Given the description of an element on the screen output the (x, y) to click on. 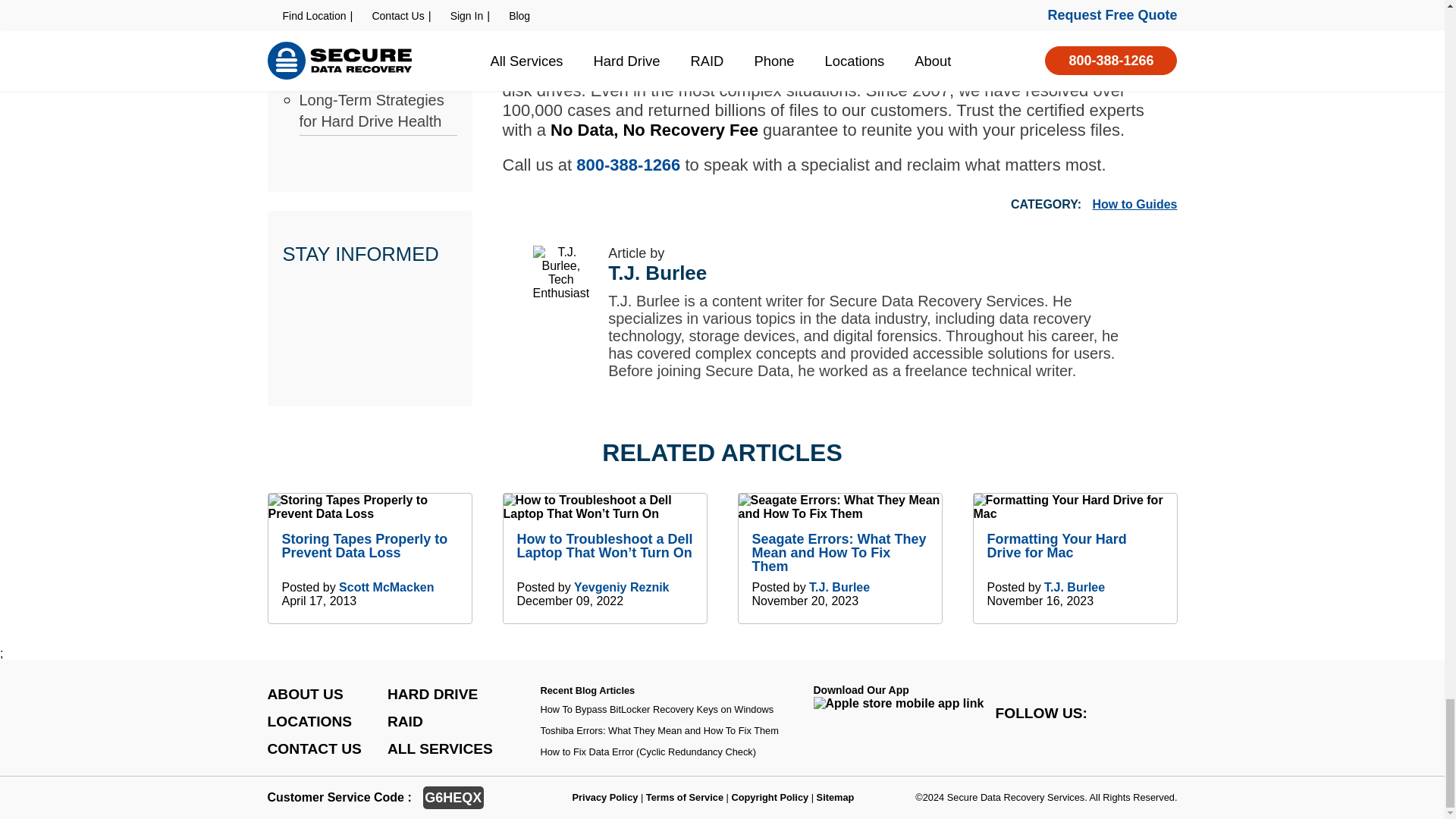
T.J. Burlee (657, 273)
Scott McMacken's Author Profile (386, 586)
T.J. Burlee's Author Profile (839, 586)
Yevgeniy Reznik's Author Profile (620, 586)
How to Guides (1134, 204)
